Given the description of an element on the screen output the (x, y) to click on. 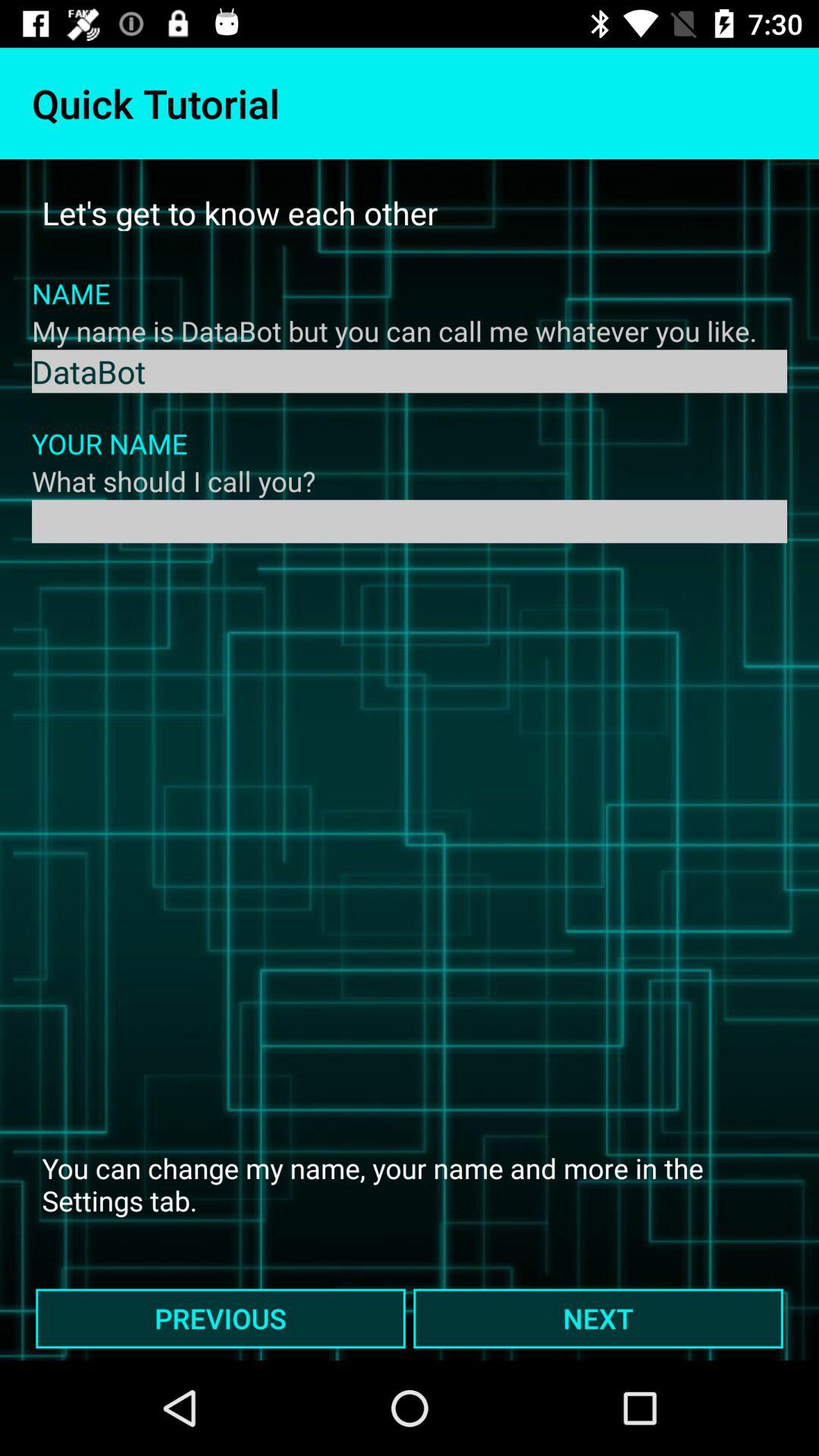
enter and type of name (409, 521)
